Given the description of an element on the screen output the (x, y) to click on. 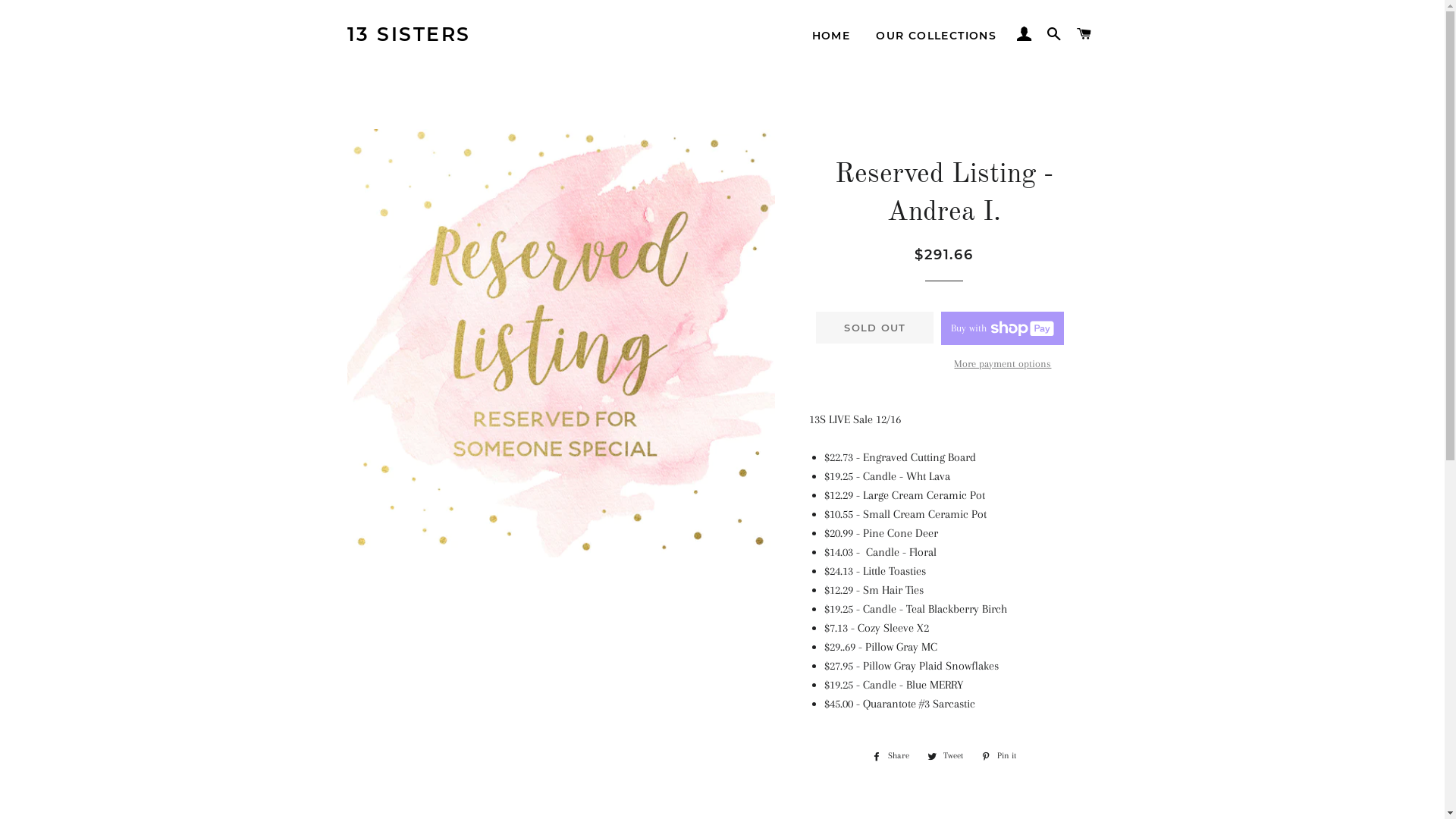
Tweet
Tweet on Twitter Element type: text (944, 755)
Pin it
Pin on Pinterest Element type: text (998, 755)
CART Element type: text (1083, 33)
OUR COLLECTIONS Element type: text (935, 36)
HOME Element type: text (831, 36)
SOLD OUT Element type: text (874, 327)
More payment options Element type: text (1002, 363)
LOG IN Element type: text (1023, 33)
Share
Share on Facebook Element type: text (890, 755)
SEARCH Element type: text (1054, 33)
13 SISTERS Element type: text (408, 34)
